Given the description of an element on the screen output the (x, y) to click on. 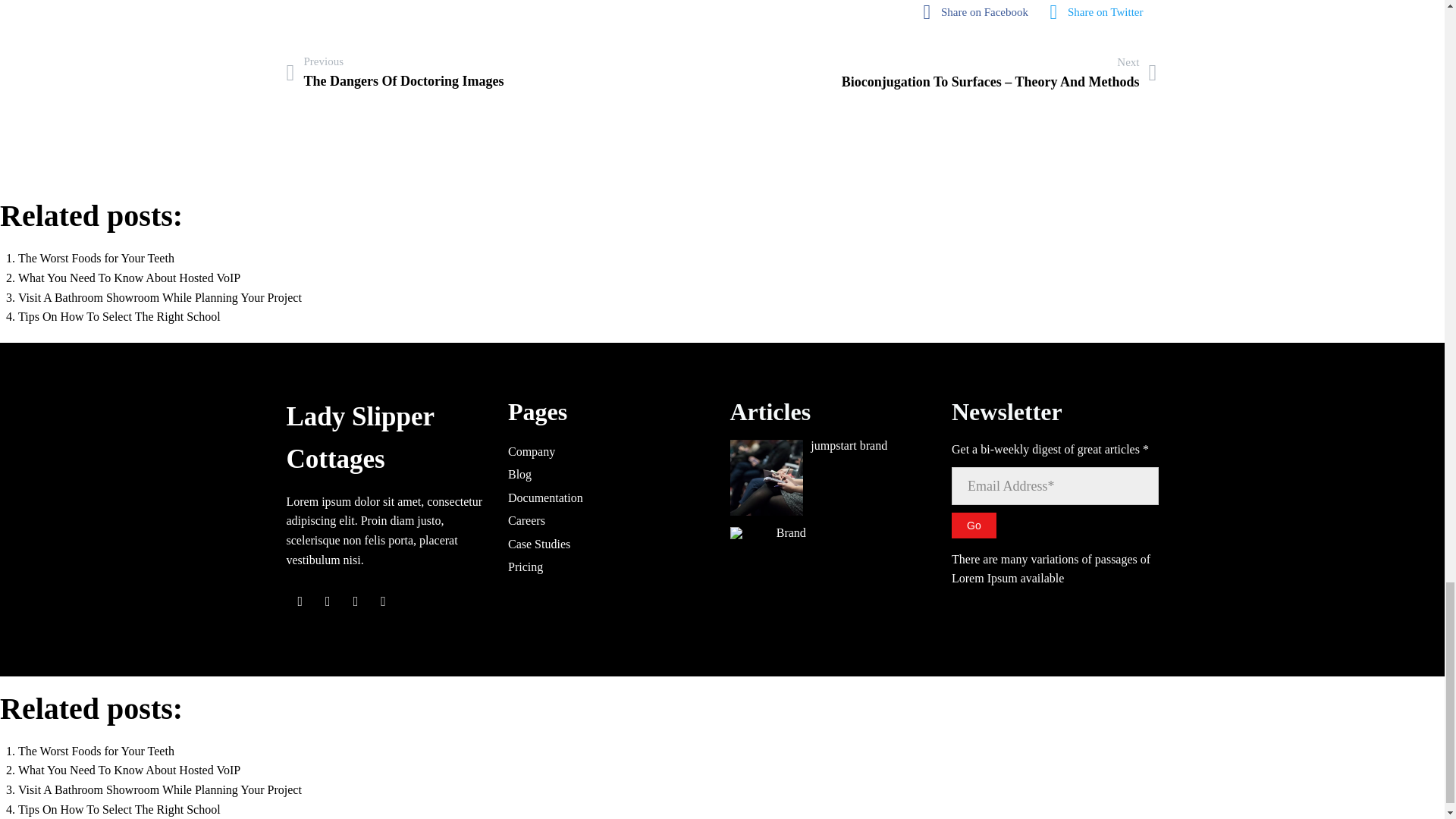
Share on Twitter (394, 72)
What You Need To Know About Hosted VoIP (1100, 12)
What You Need To Know About Hosted VoIP (128, 277)
What You Need To Know About Hosted VoIP (128, 769)
fab fa-facebook-square (128, 277)
The Worst Foods for Your Teeth (980, 12)
Share on Facebook (95, 750)
Go (980, 12)
The Worst Foods for Your Teeth (973, 525)
